Given the description of an element on the screen output the (x, y) to click on. 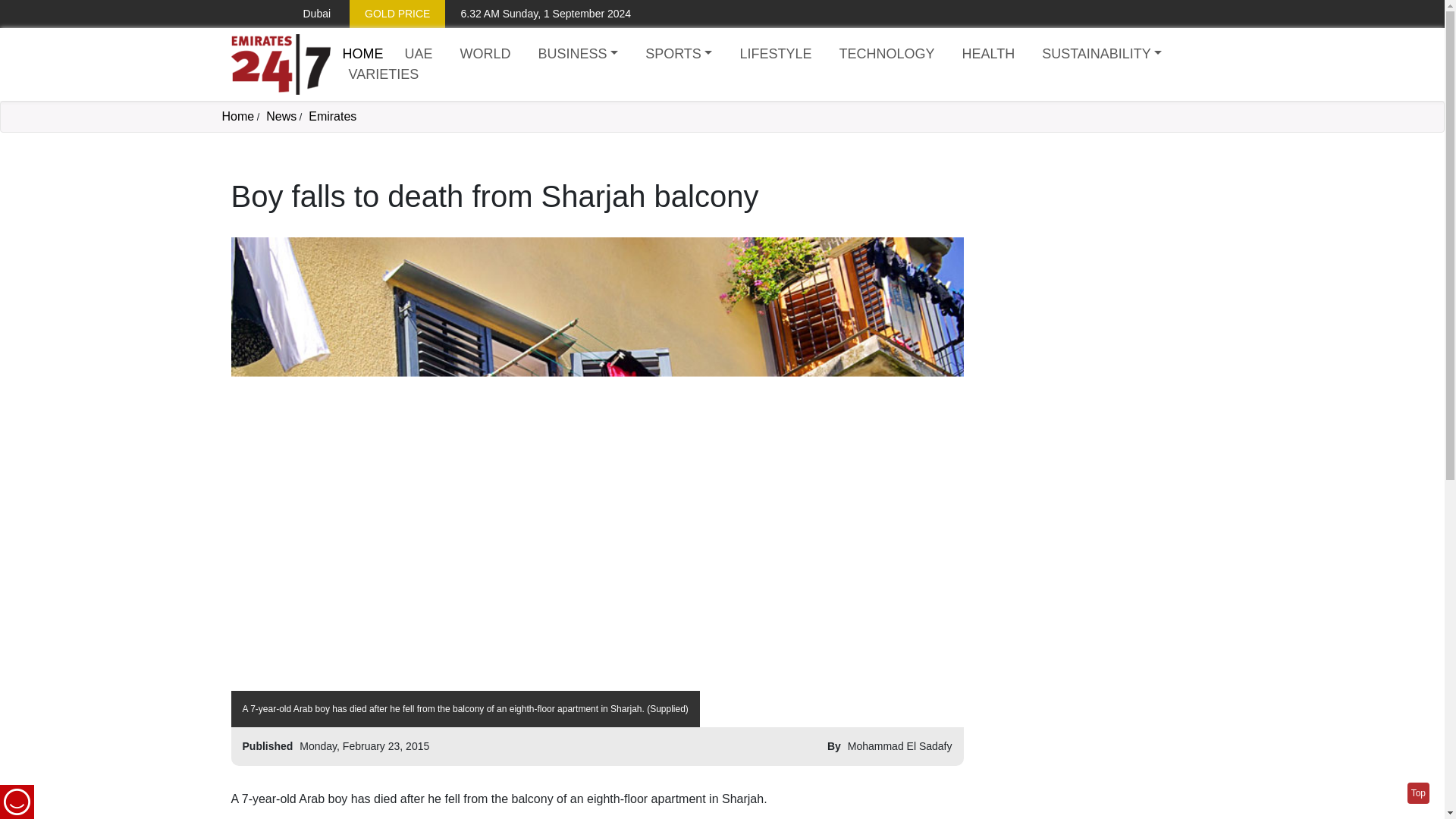
GOLD PRICE (397, 13)
UAE (418, 54)
News (281, 115)
SPORTS (678, 54)
SUSTAINABILITY (1101, 54)
Home (363, 53)
BUSINESS (578, 54)
VARIETIES (383, 74)
TECHNOLOGY (886, 54)
HEALTH (987, 54)
